Given the description of an element on the screen output the (x, y) to click on. 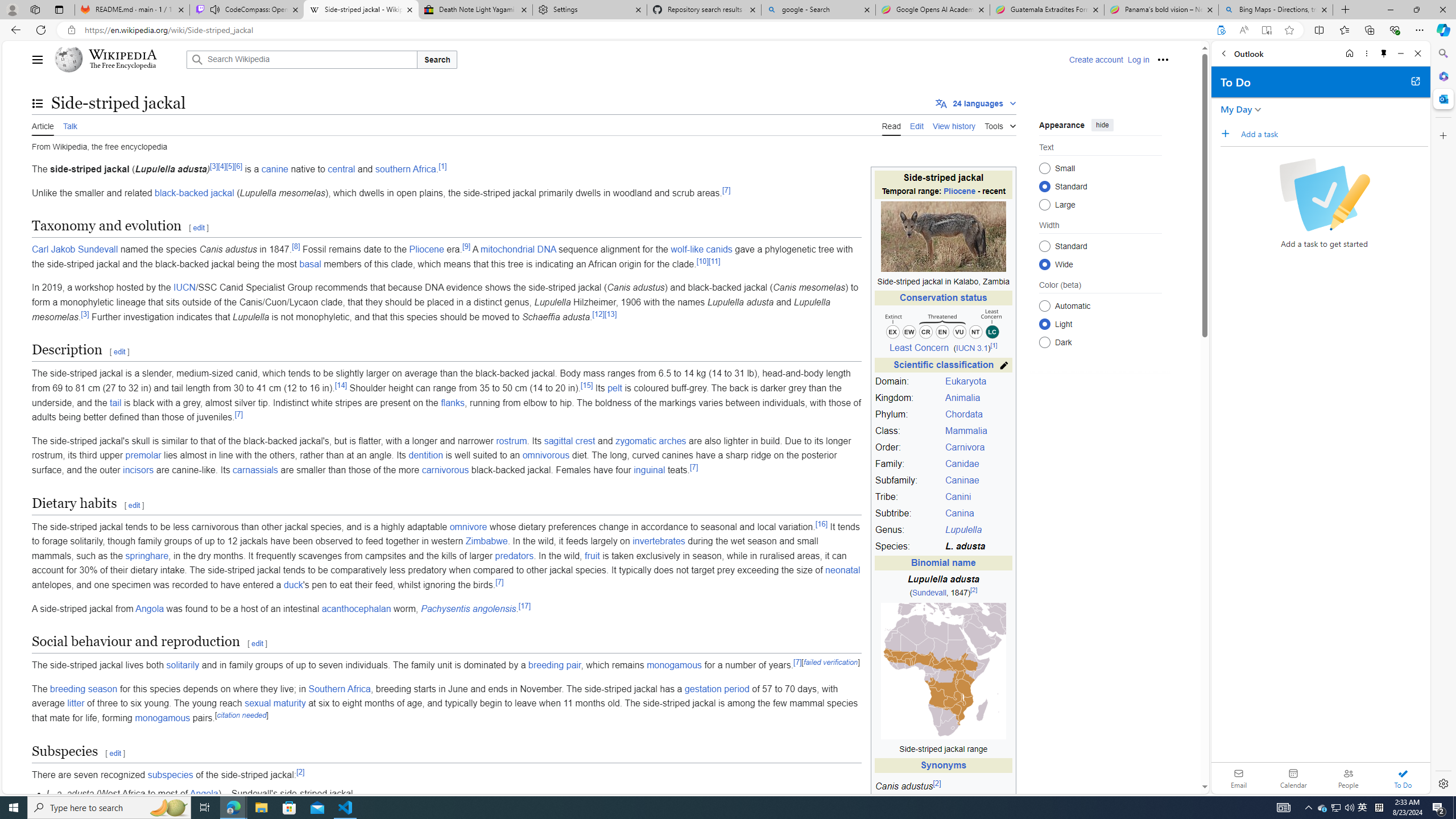
People (1347, 777)
Scientific classification Edit this classification (942, 365)
Class: (908, 430)
[9] (465, 245)
omnivorous (545, 455)
Species: (908, 546)
[1] (442, 165)
failed verification (830, 661)
Binomial name (942, 562)
Edit (917, 124)
solitarily (182, 665)
Large (1044, 204)
